Given the description of an element on the screen output the (x, y) to click on. 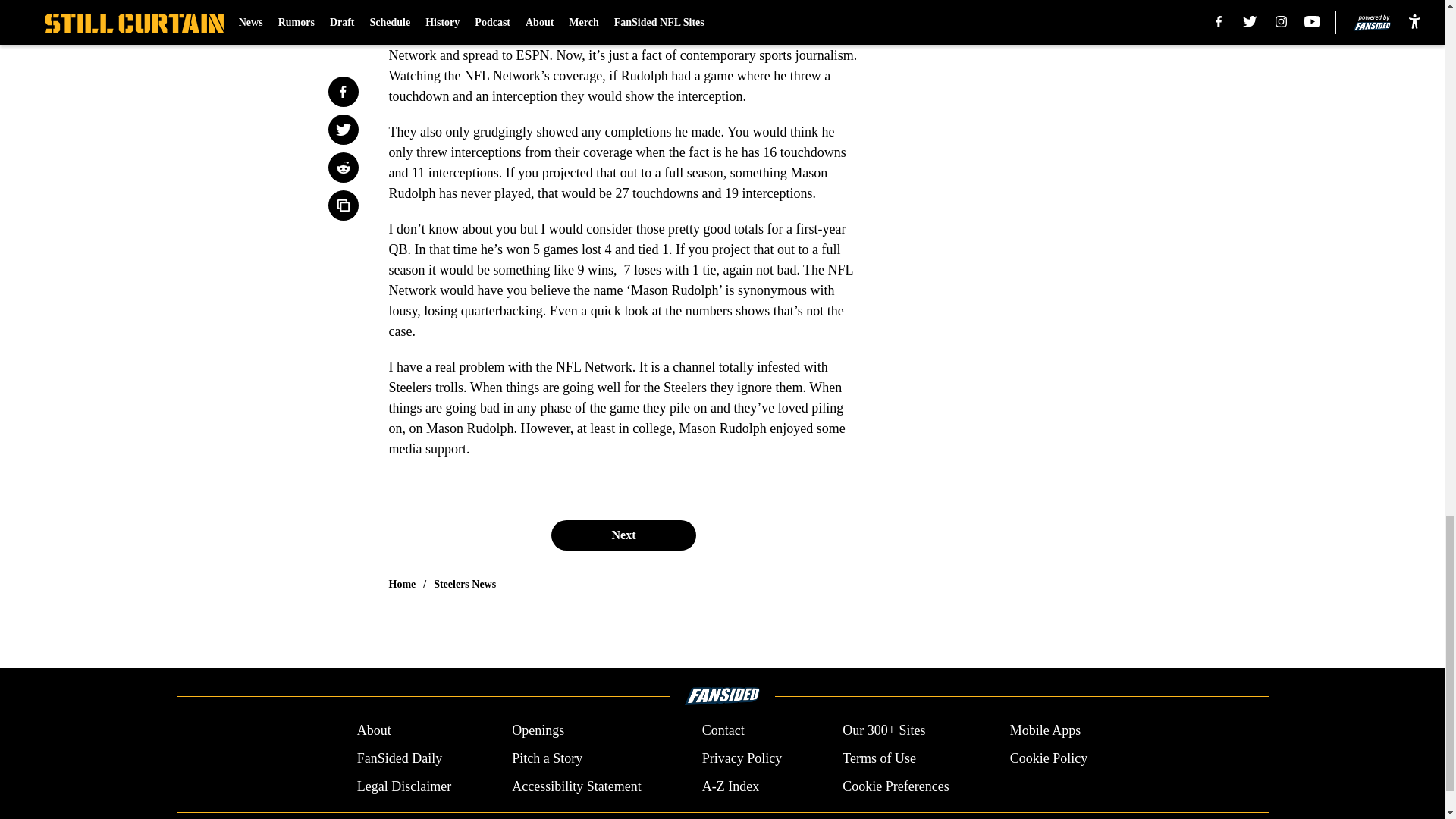
Mobile Apps (1045, 730)
Home (401, 584)
Next (622, 535)
FanSided Daily (399, 758)
Contact (722, 730)
Pitch a Story (547, 758)
Openings (538, 730)
Steelers News (464, 584)
About (373, 730)
